Given the description of an element on the screen output the (x, y) to click on. 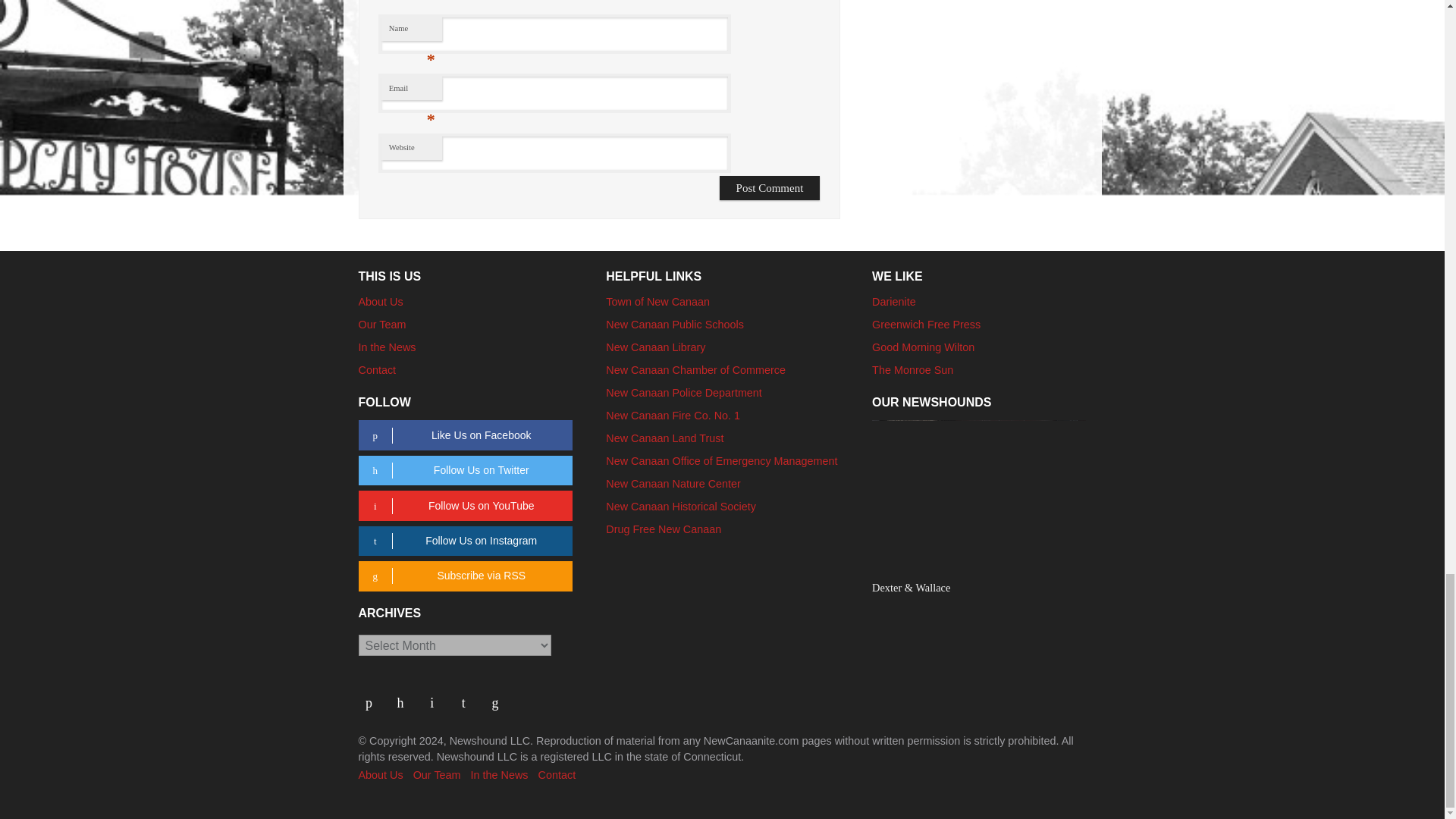
Post Comment (770, 188)
